Given the description of an element on the screen output the (x, y) to click on. 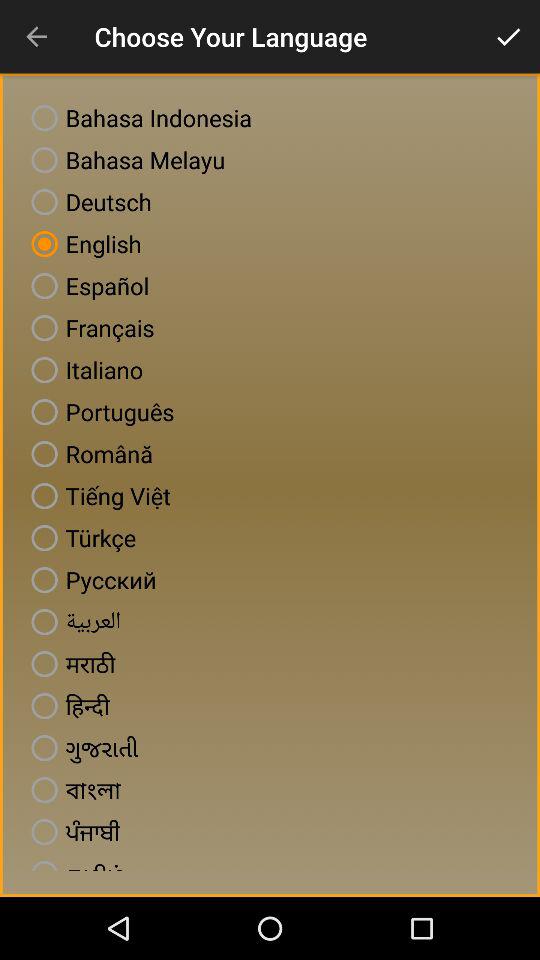
tap the bahasa melayu icon (124, 160)
